Given the description of an element on the screen output the (x, y) to click on. 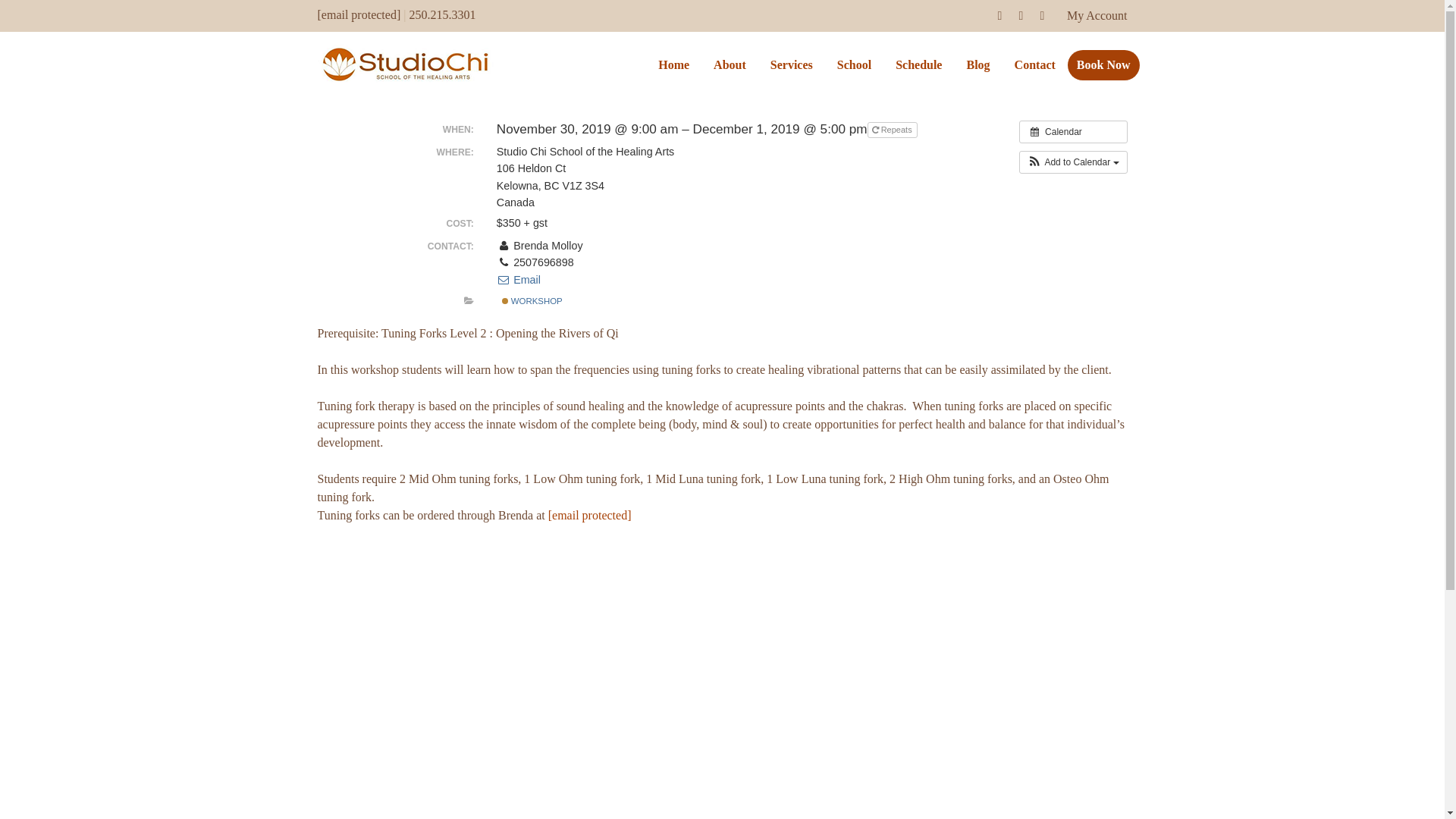
Workshop (505, 300)
Contact (1035, 65)
Blog (977, 65)
250.215.3301 (442, 14)
School (854, 65)
Repeats (892, 130)
View all events (1072, 131)
Schedule (918, 65)
About (729, 65)
Calendar (1072, 131)
Categories (469, 300)
Email (518, 279)
WORKSHOP (531, 301)
My Account (1096, 15)
Services (791, 65)
